Given the description of an element on the screen output the (x, y) to click on. 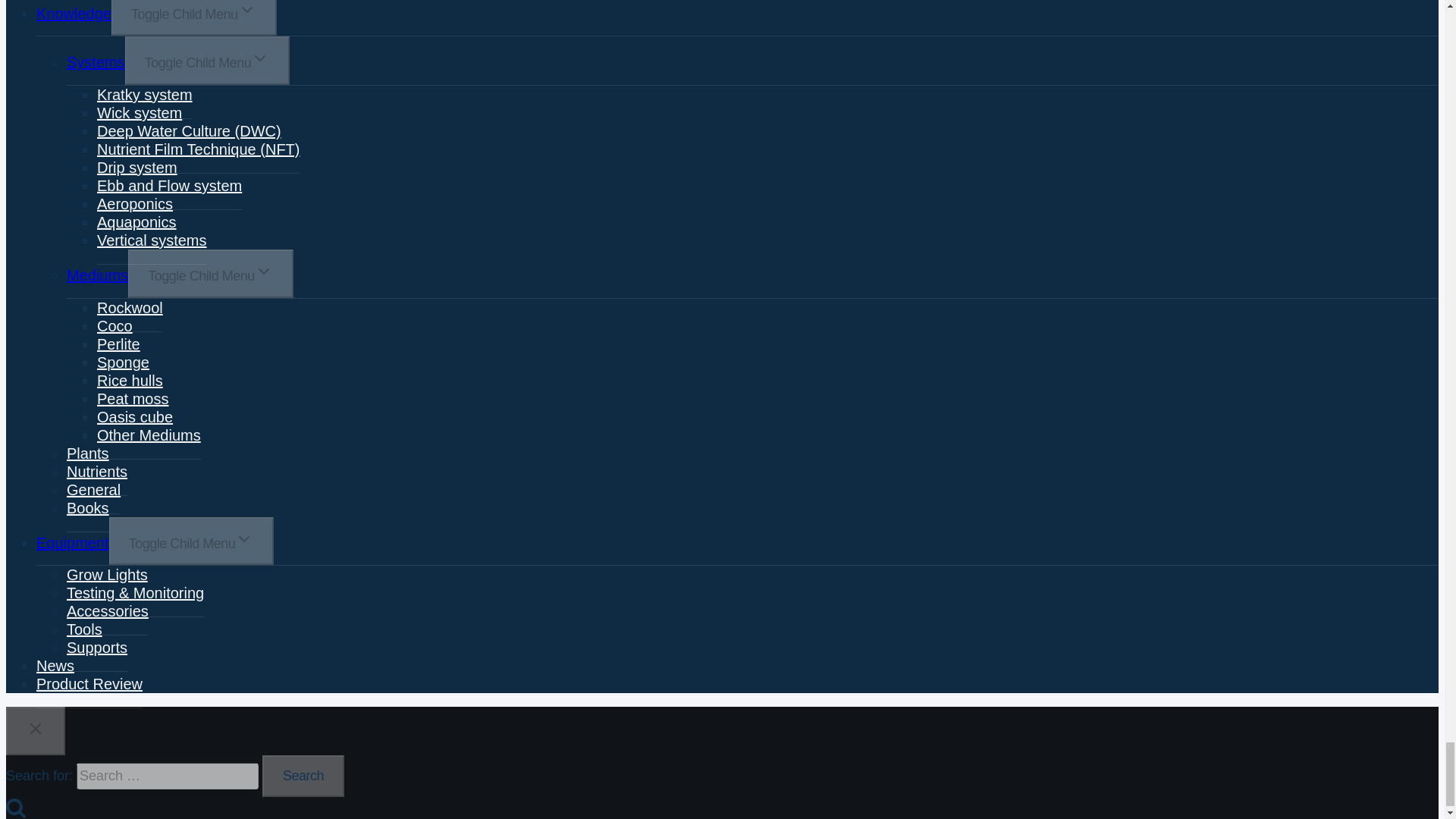
Search (302, 776)
Search (302, 776)
